Given the description of an element on the screen output the (x, y) to click on. 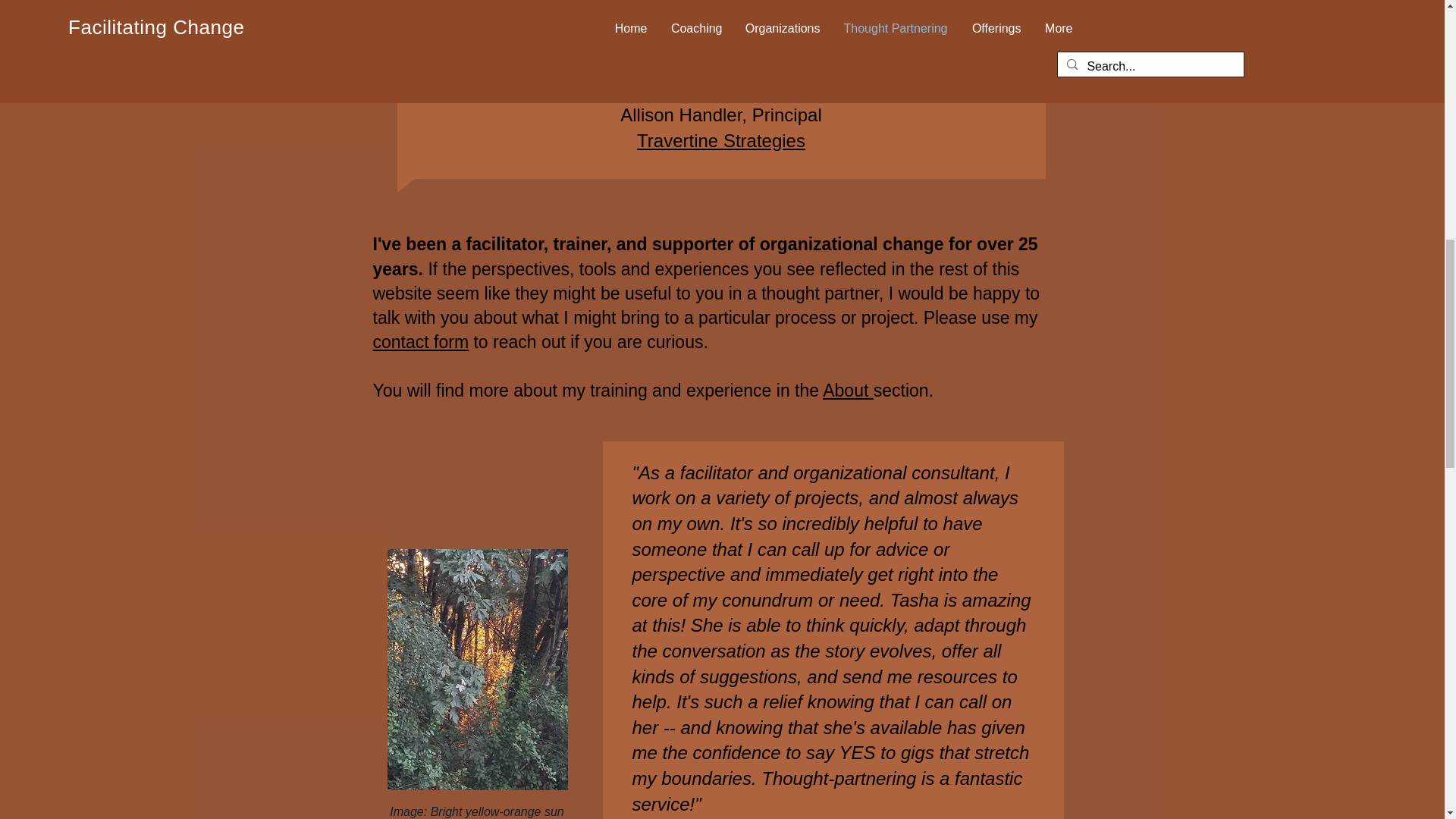
Abo (837, 390)
ut (863, 390)
Travertine Strategies (721, 140)
contact form (420, 342)
